Given the description of an element on the screen output the (x, y) to click on. 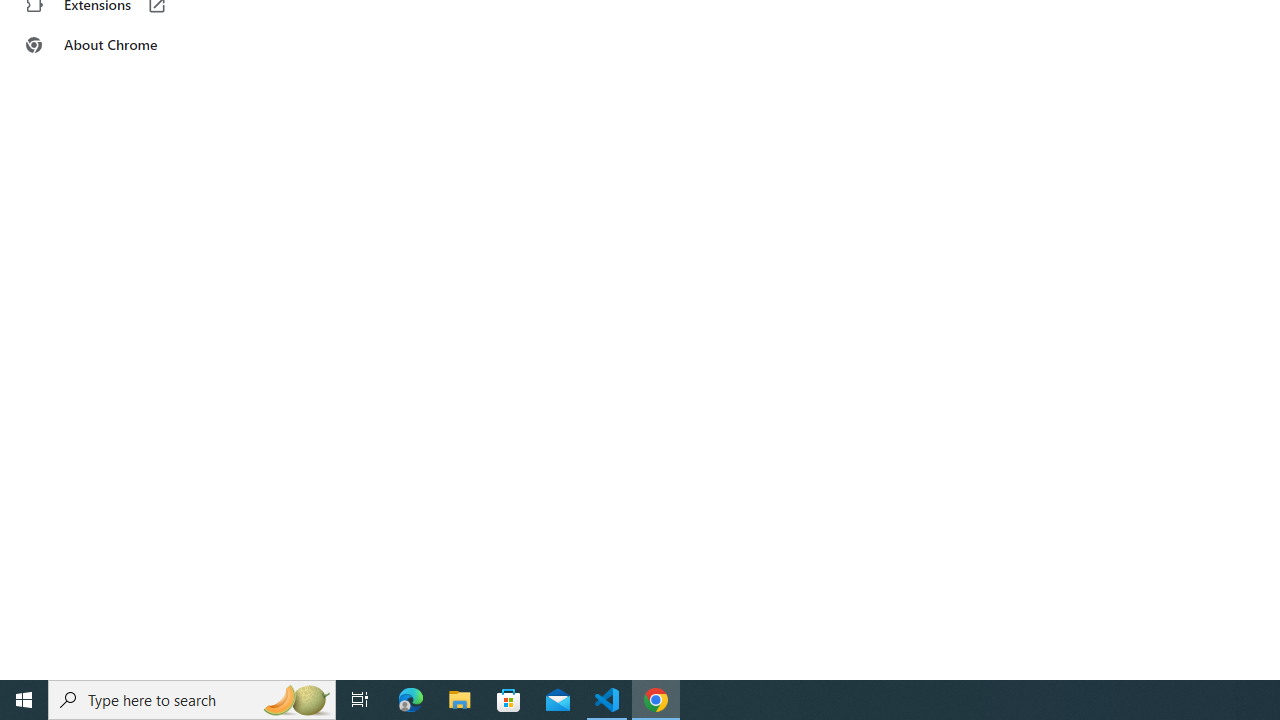
About Chrome (124, 44)
